Given the description of an element on the screen output the (x, y) to click on. 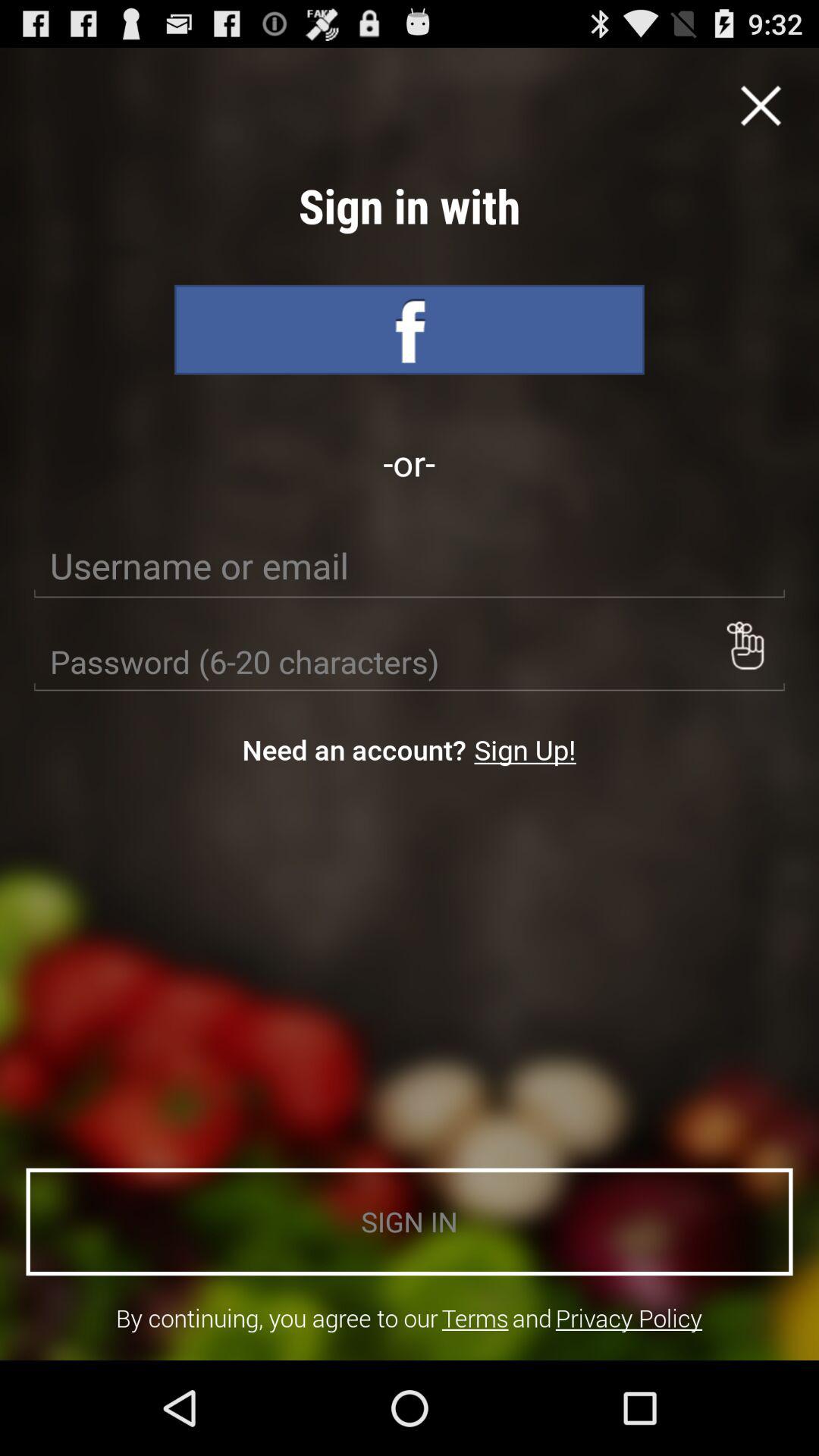
tap item on the right (744, 645)
